Given the description of an element on the screen output the (x, y) to click on. 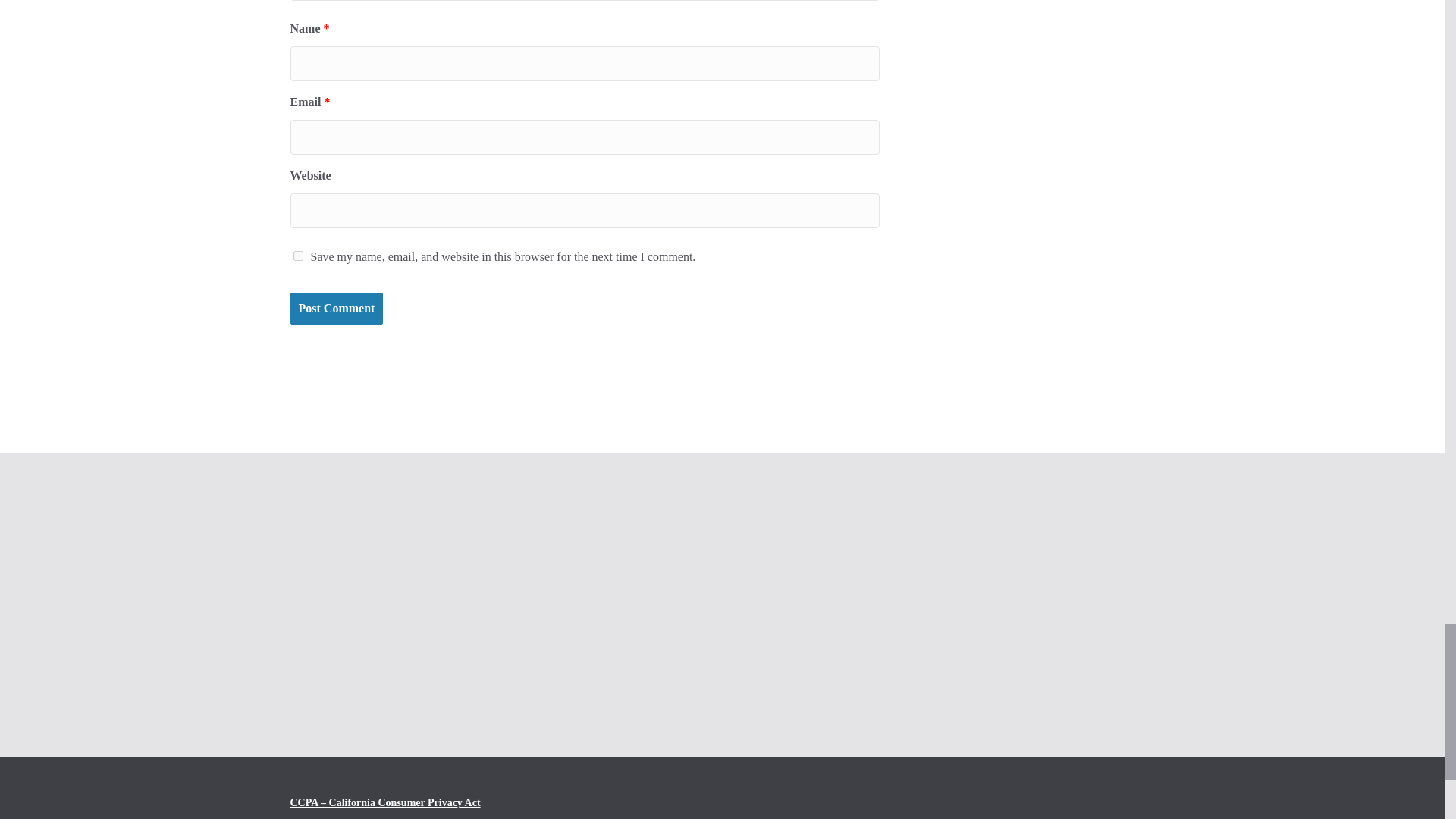
yes (297, 255)
Post Comment (335, 308)
Post Comment (335, 308)
